Given the description of an element on the screen output the (x, y) to click on. 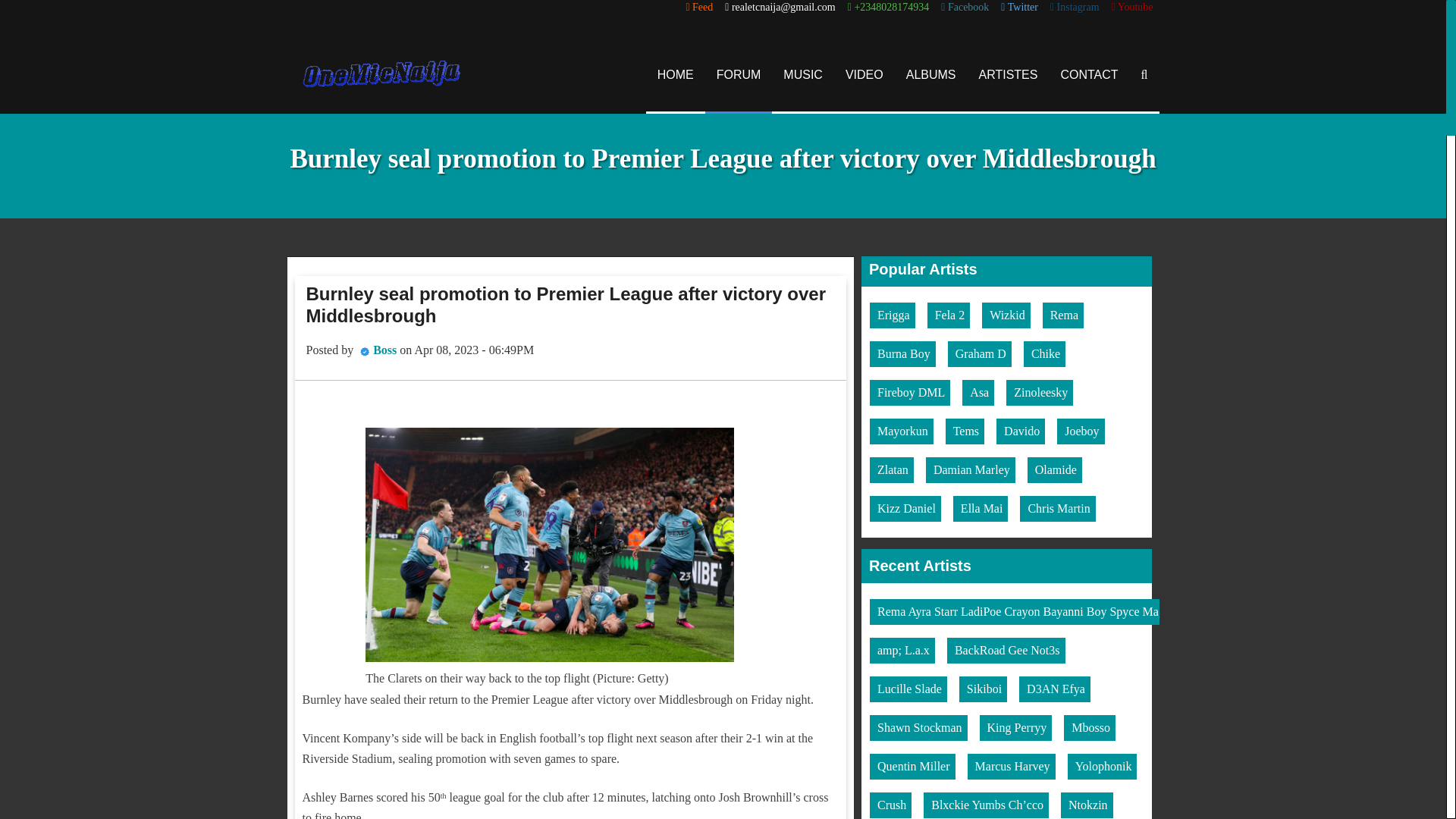
ARTISTES (1008, 74)
ALBUMS (931, 74)
FORUM (738, 74)
Youtube (1132, 7)
Twitter (1019, 7)
Boss (384, 349)
Facebook (964, 7)
Feed (699, 7)
CONTACT (1088, 74)
Instagram (1074, 7)
